Given the description of an element on the screen output the (x, y) to click on. 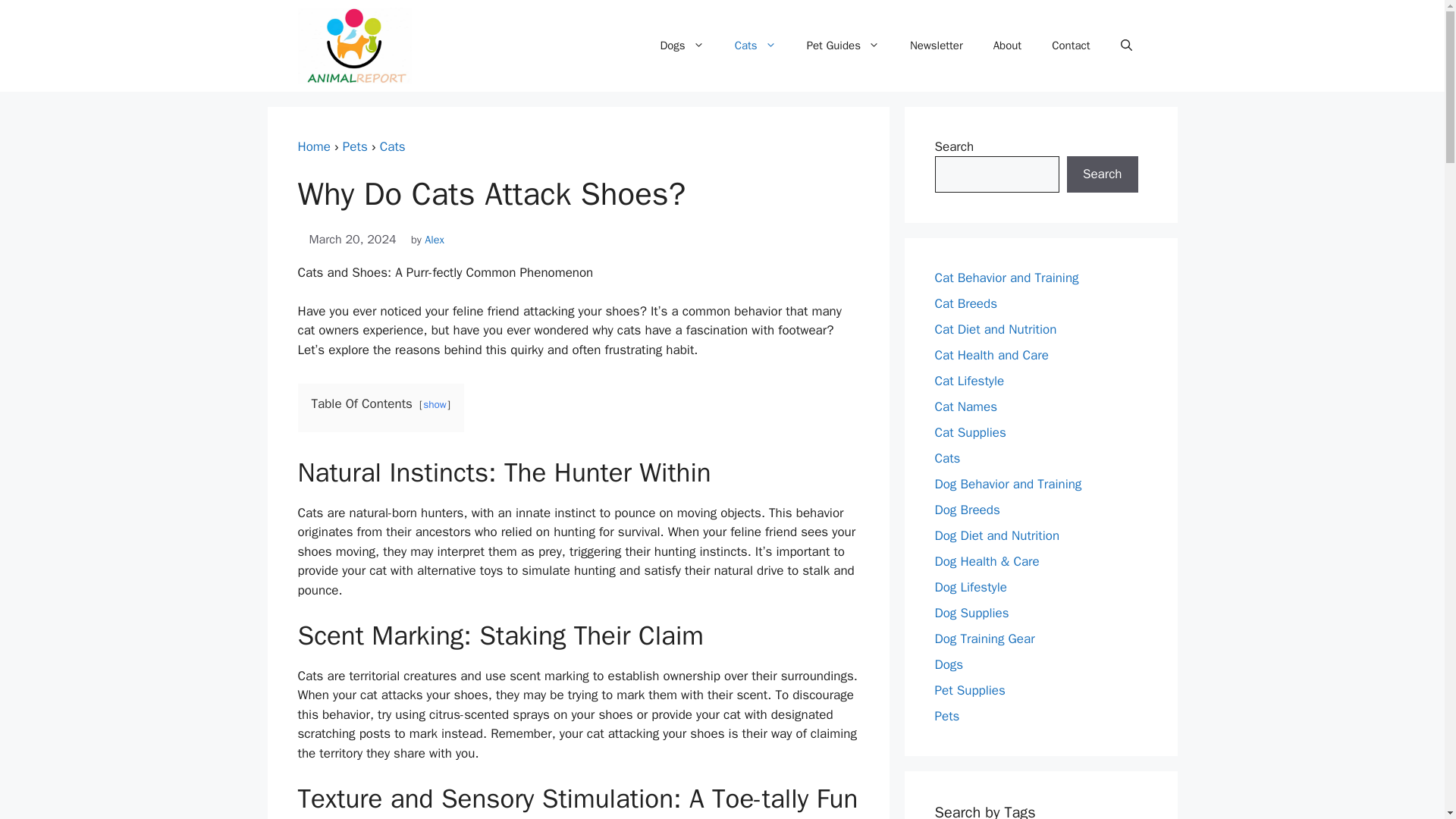
Pets (355, 145)
Newsletter (936, 44)
Cats (393, 145)
Cats (393, 145)
Home (313, 145)
Dogs (682, 44)
Home (313, 145)
Pet Guides (843, 44)
View all posts by Alex (434, 239)
About (1007, 44)
